Given the description of an element on the screen output the (x, y) to click on. 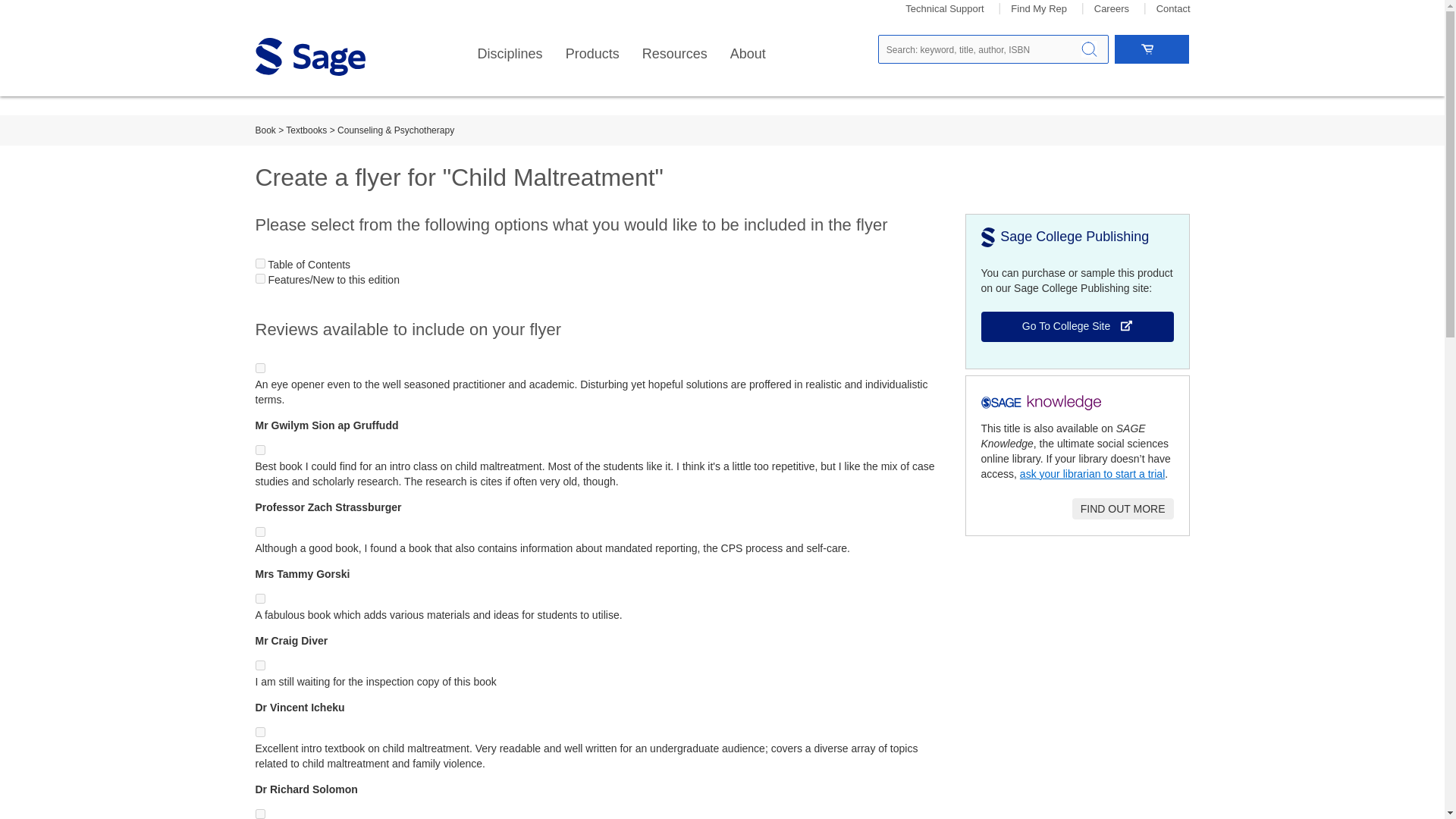
127575 (259, 732)
Sage logo: link back to homepage (309, 56)
135979 (259, 814)
Search (1089, 48)
130133 (259, 598)
Careers (1111, 8)
533951 (259, 368)
140873 (259, 532)
1 (259, 278)
Find My Rep (1038, 8)
